Given the description of an element on the screen output the (x, y) to click on. 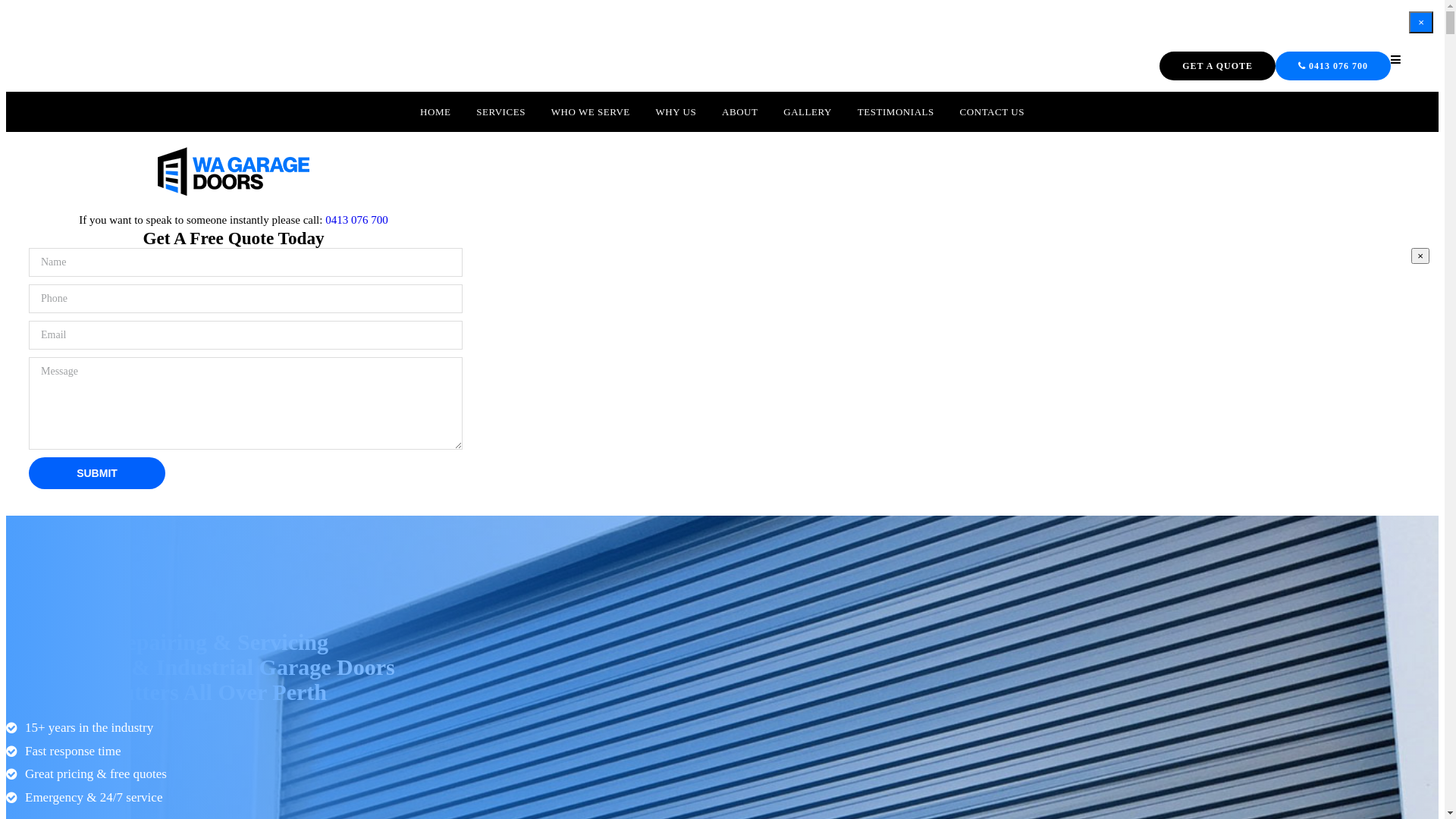
GET A QUOTE Element type: text (1217, 65)
WHY US Element type: text (676, 111)
ABOUT Element type: text (739, 111)
0413 076 700 Element type: text (356, 219)
TESTIMONIALS Element type: text (895, 111)
Submit Element type: text (96, 473)
GALLERY Element type: text (807, 111)
SERVICES Element type: text (500, 111)
CONTACT US Element type: text (991, 111)
Skip to content Element type: text (6, 6)
HOME Element type: text (434, 111)
WHO WE SERVE Element type: text (590, 111)
0413 076 700 Element type: text (1332, 65)
